Given the description of an element on the screen output the (x, y) to click on. 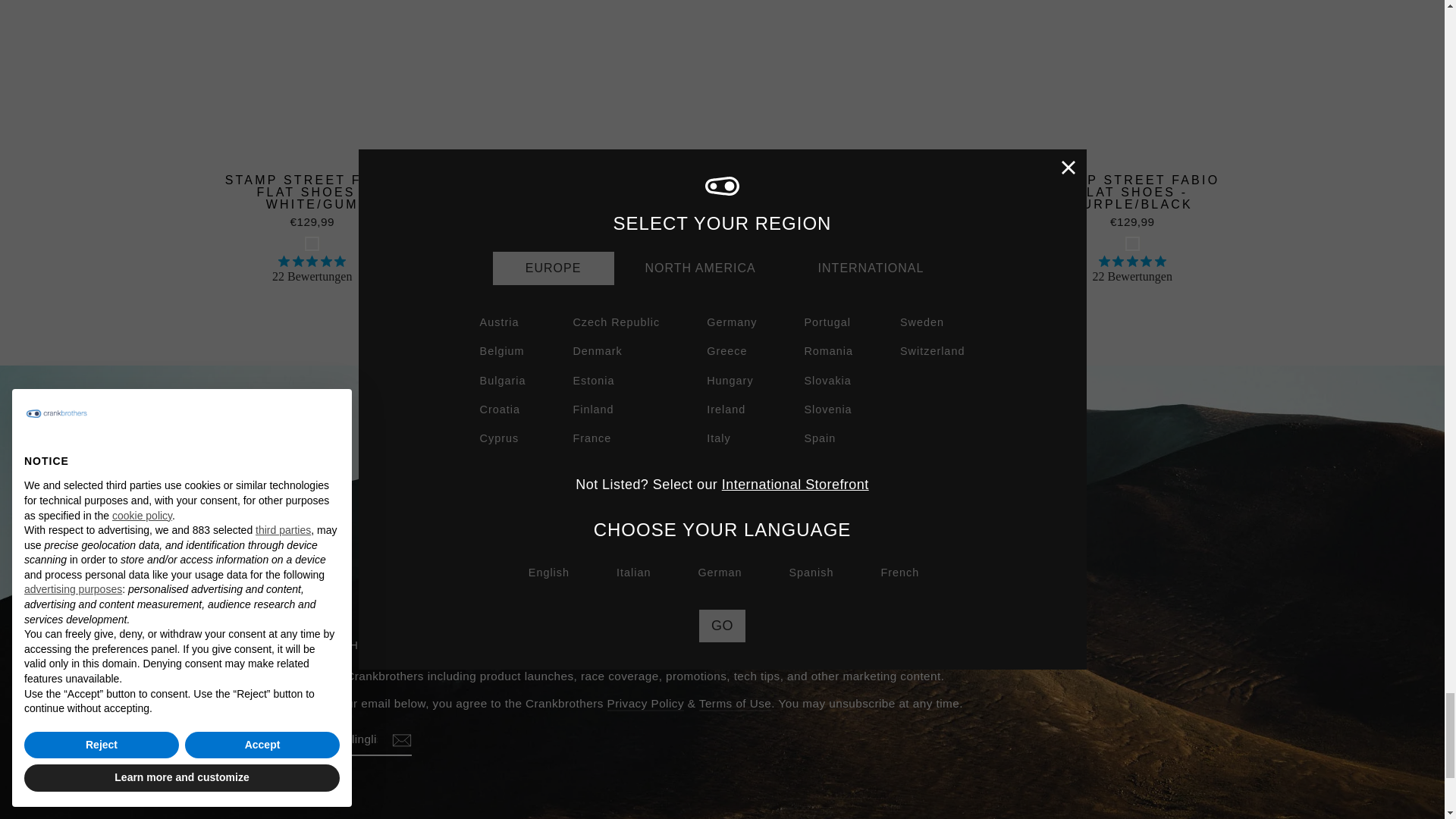
Terms and Conditions (734, 703)
Crankbrothers EU auf TikTok (282, 793)
Crankbrothers EU auf Facebook (222, 793)
22 Bewertungen (858, 269)
Privacy Policy (645, 703)
Crankbrothers EU auf YouTube (251, 793)
Crankbrothers EU auf Instagram (192, 793)
22 Bewertungen (586, 269)
22 Bewertungen (312, 269)
22 Bewertungen (1132, 269)
